Given the description of an element on the screen output the (x, y) to click on. 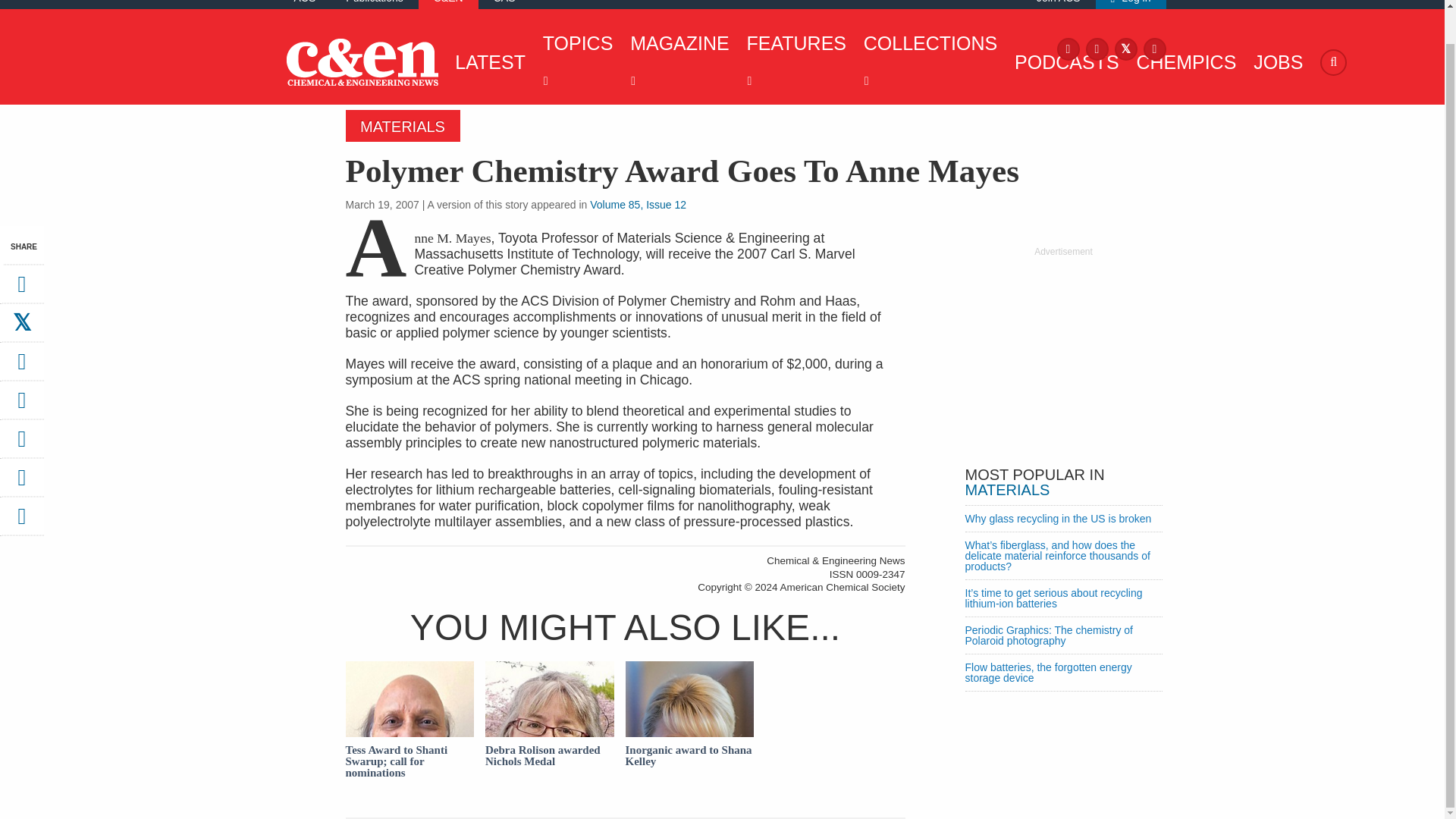
ACS (304, 2)
WeChat (21, 443)
Join ACS (1058, 2)
LATEST (485, 62)
Log in (1130, 2)
Publications (374, 2)
CAS (504, 2)
X (1126, 47)
TOPICS (573, 61)
Facebook (1068, 47)
